Given the description of an element on the screen output the (x, y) to click on. 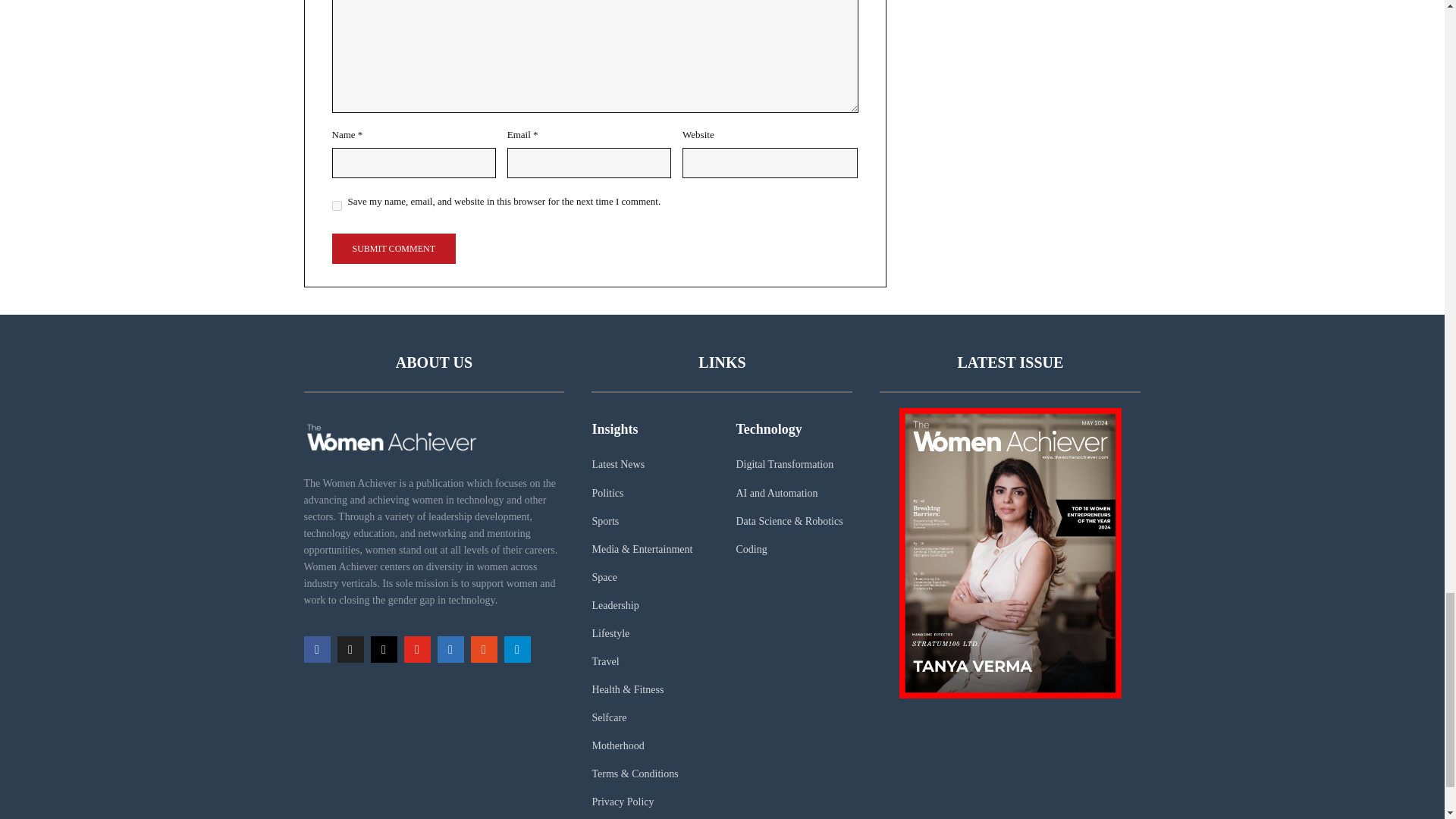
Submit Comment (393, 248)
Instagram (382, 649)
YouTube (416, 649)
reddit (483, 649)
Facebook (316, 649)
Linkedin (449, 649)
Telegram (516, 649)
